Given the description of an element on the screen output the (x, y) to click on. 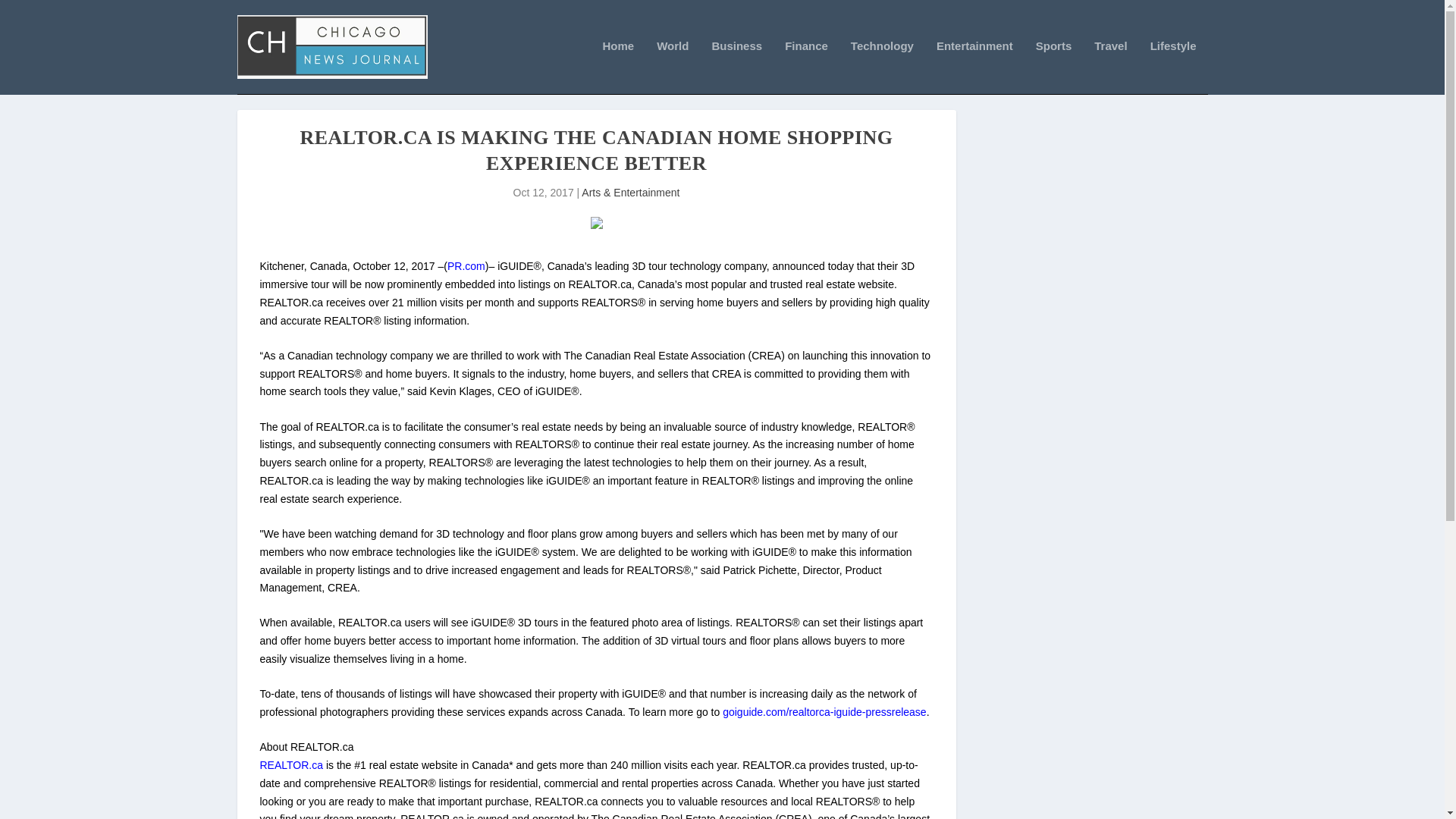
REALTOR.ca (291, 765)
PR.com (465, 265)
Entertainment (974, 67)
Technology (882, 67)
Business (736, 67)
